Given the description of an element on the screen output the (x, y) to click on. 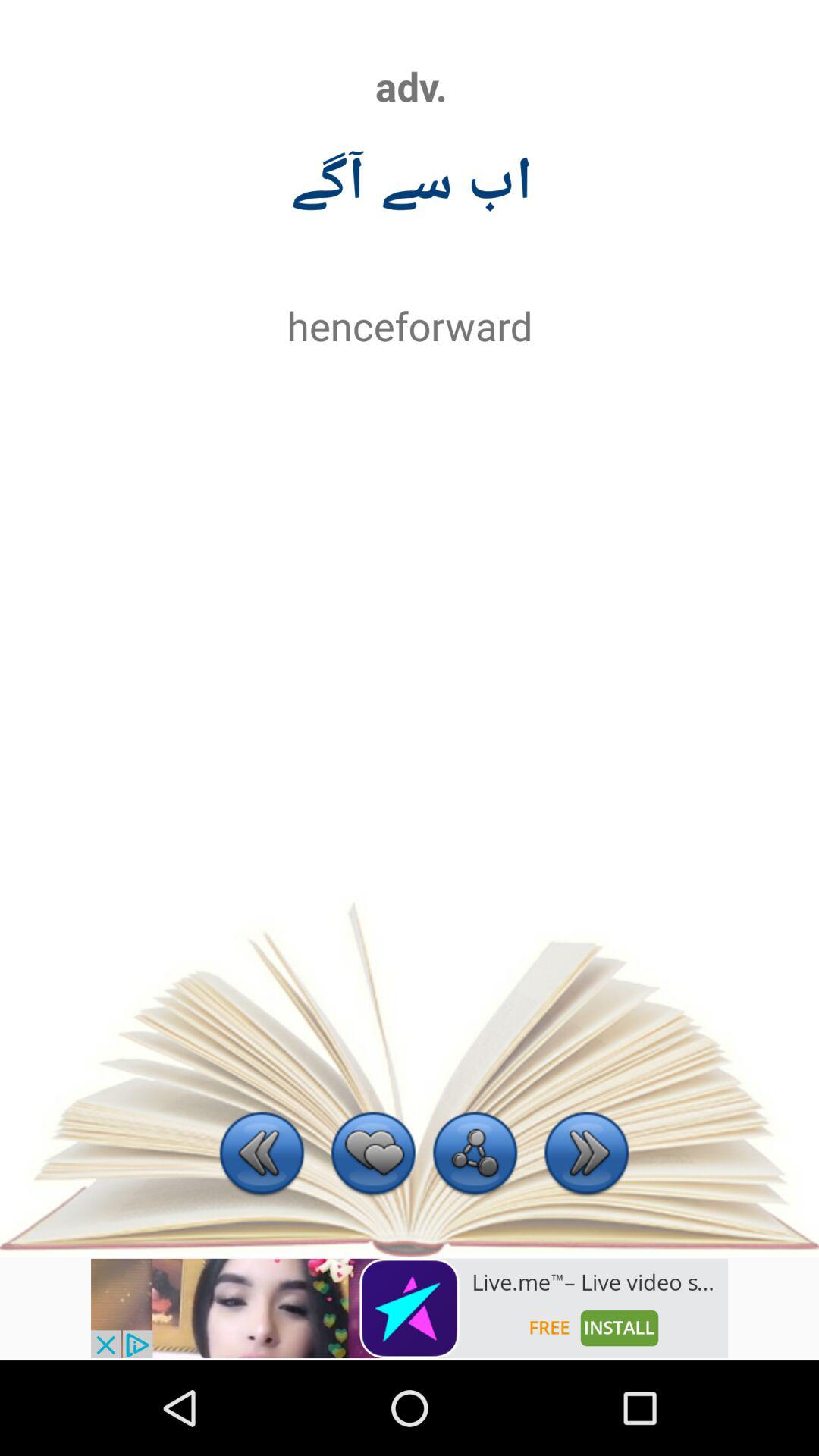
add to favourites (373, 1155)
